Given the description of an element on the screen output the (x, y) to click on. 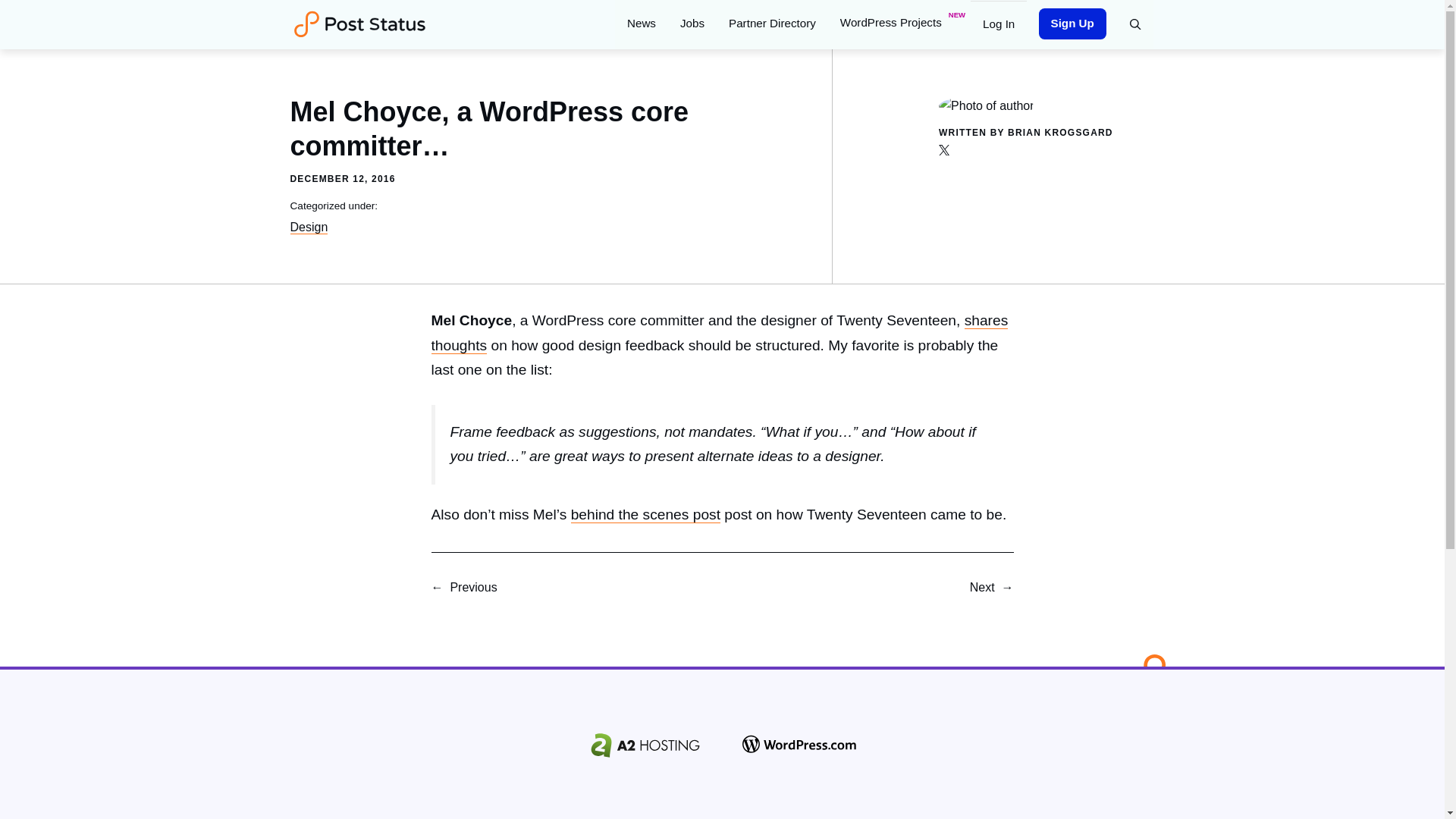
Jobs (692, 22)
Partner Directory (772, 22)
behind the scenes post (645, 514)
shares thoughts (718, 332)
Next (981, 586)
News (641, 22)
Post Status Icon (1144, 674)
Sign Up (1072, 22)
A2 Hosting (644, 745)
Log In (998, 22)
Design (308, 227)
Previous (472, 586)
WordPress.com (799, 745)
WordPress Projects (899, 23)
